Given the description of an element on the screen output the (x, y) to click on. 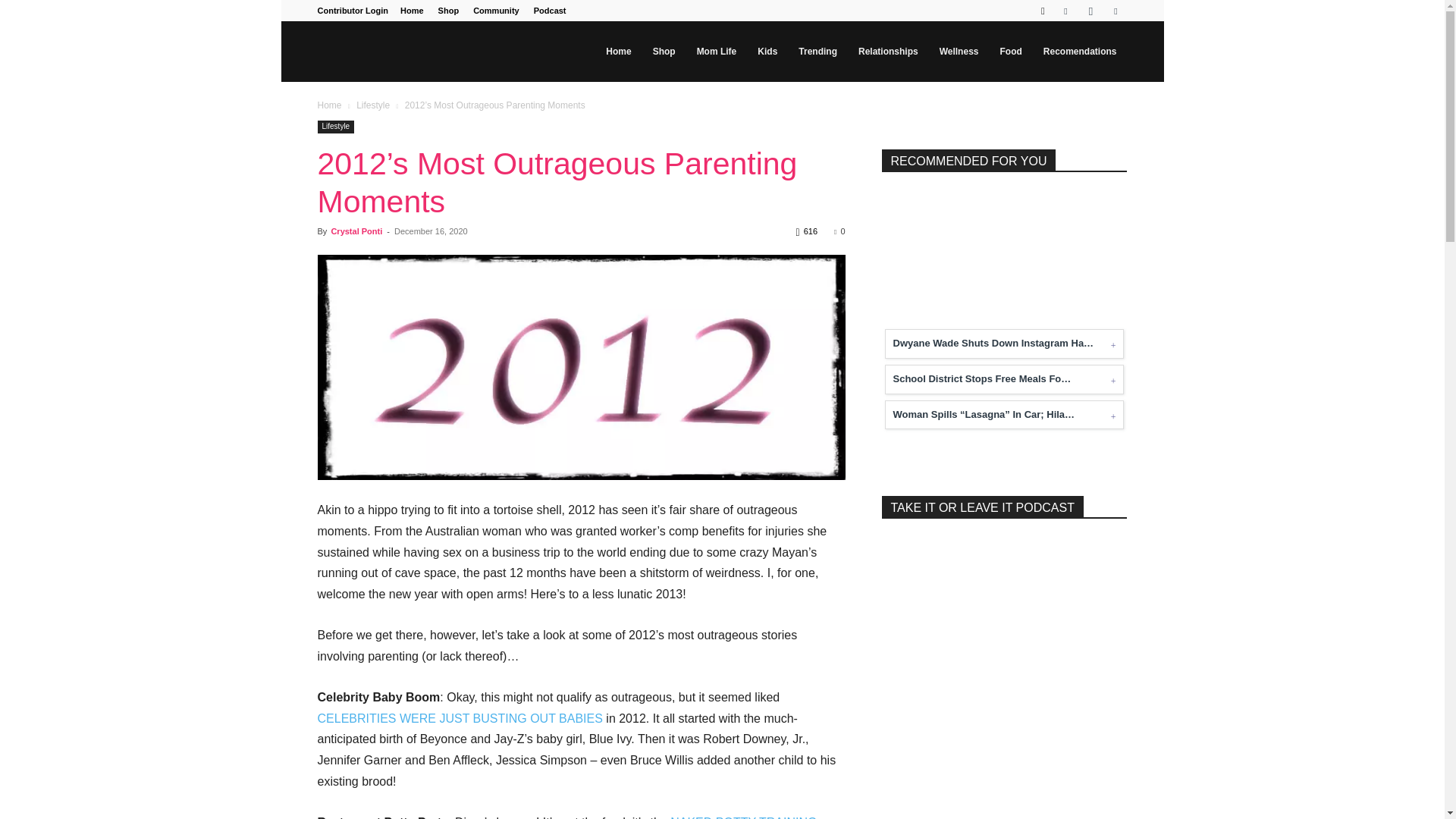
Home (411, 10)
Contributor Login (352, 10)
Pinterest (1114, 10)
Instagram (1090, 10)
Facebook (1065, 10)
